Given the description of an element on the screen output the (x, y) to click on. 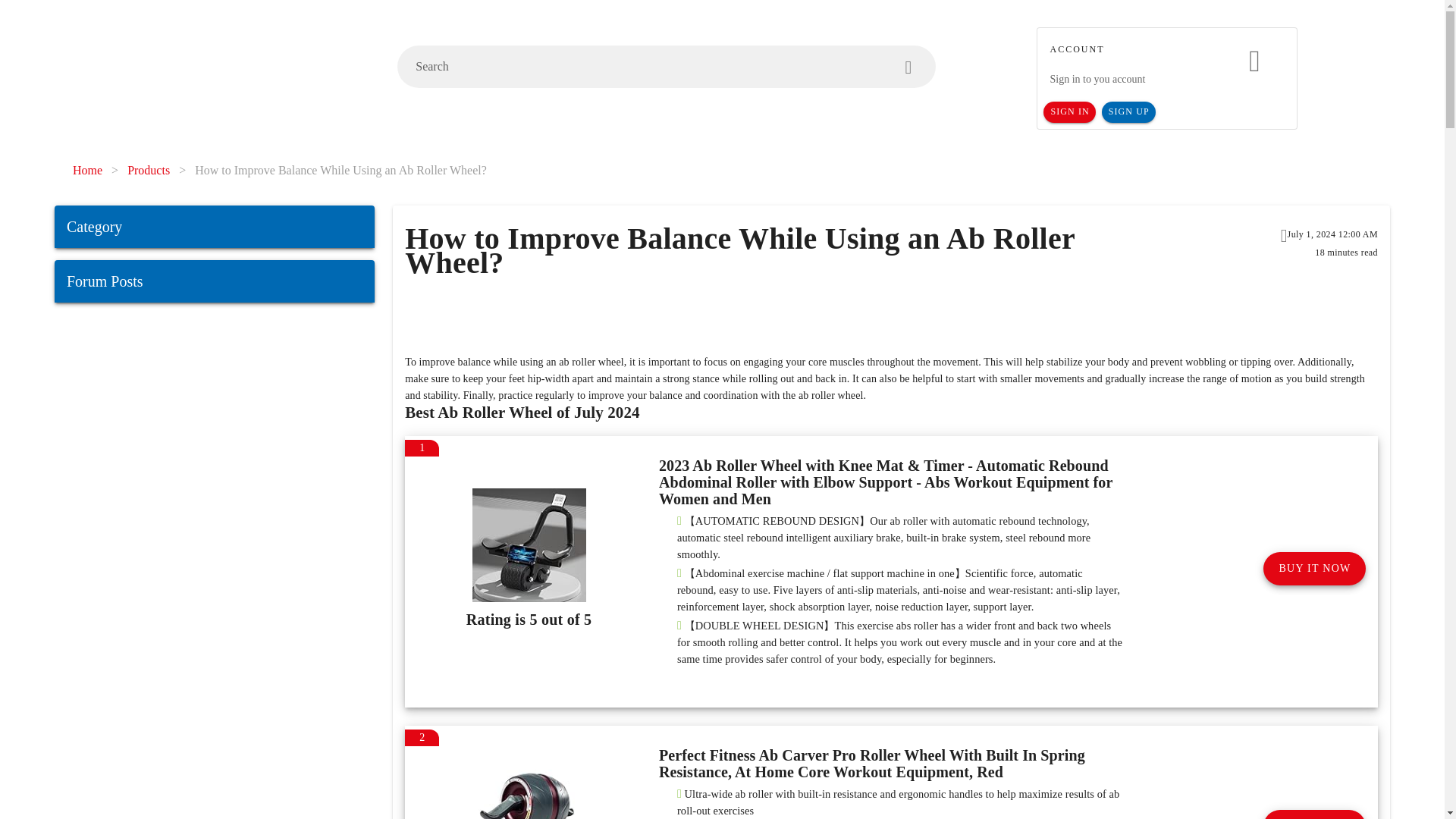
Home (86, 170)
BUY IT NOW (1314, 814)
SIGN UP (1129, 111)
SIGN IN (1068, 111)
How to Improve Balance While Using an Ab Roller Wheel? (340, 170)
BUY IT NOW (1314, 568)
Products (149, 170)
